Given the description of an element on the screen output the (x, y) to click on. 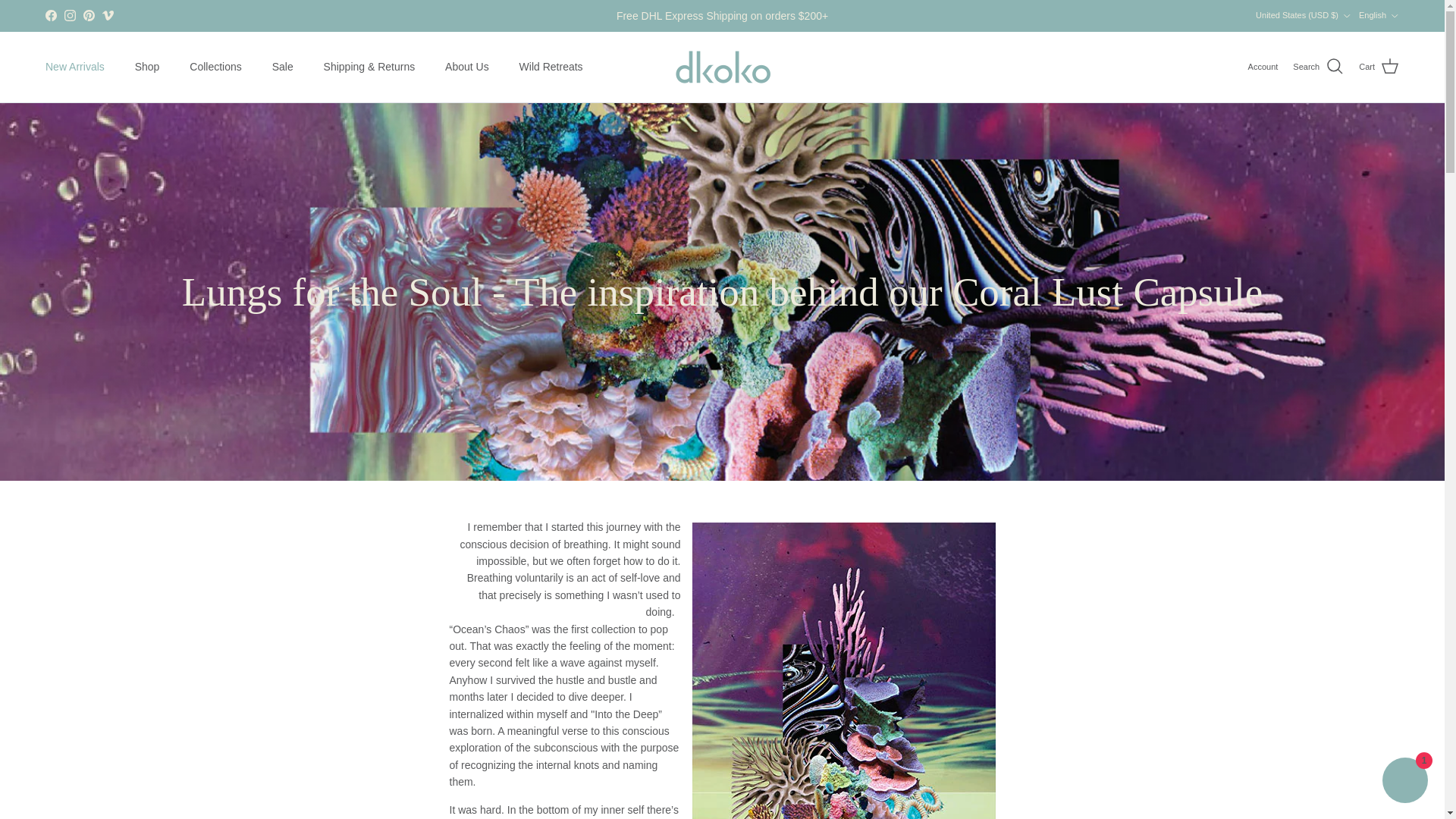
Dkoko on Pinterest (88, 15)
Search (1317, 66)
Dkoko on Instagram (69, 15)
Shop (146, 66)
Cart (1378, 66)
Account (1262, 67)
English (1378, 15)
New Arrivals (74, 66)
Dkoko on Vimeo (107, 15)
Instagram (69, 15)
Vimeo (107, 15)
Sale (283, 66)
Collections (215, 66)
Wild Retreats (550, 66)
Facebook (50, 15)
